Given the description of an element on the screen output the (x, y) to click on. 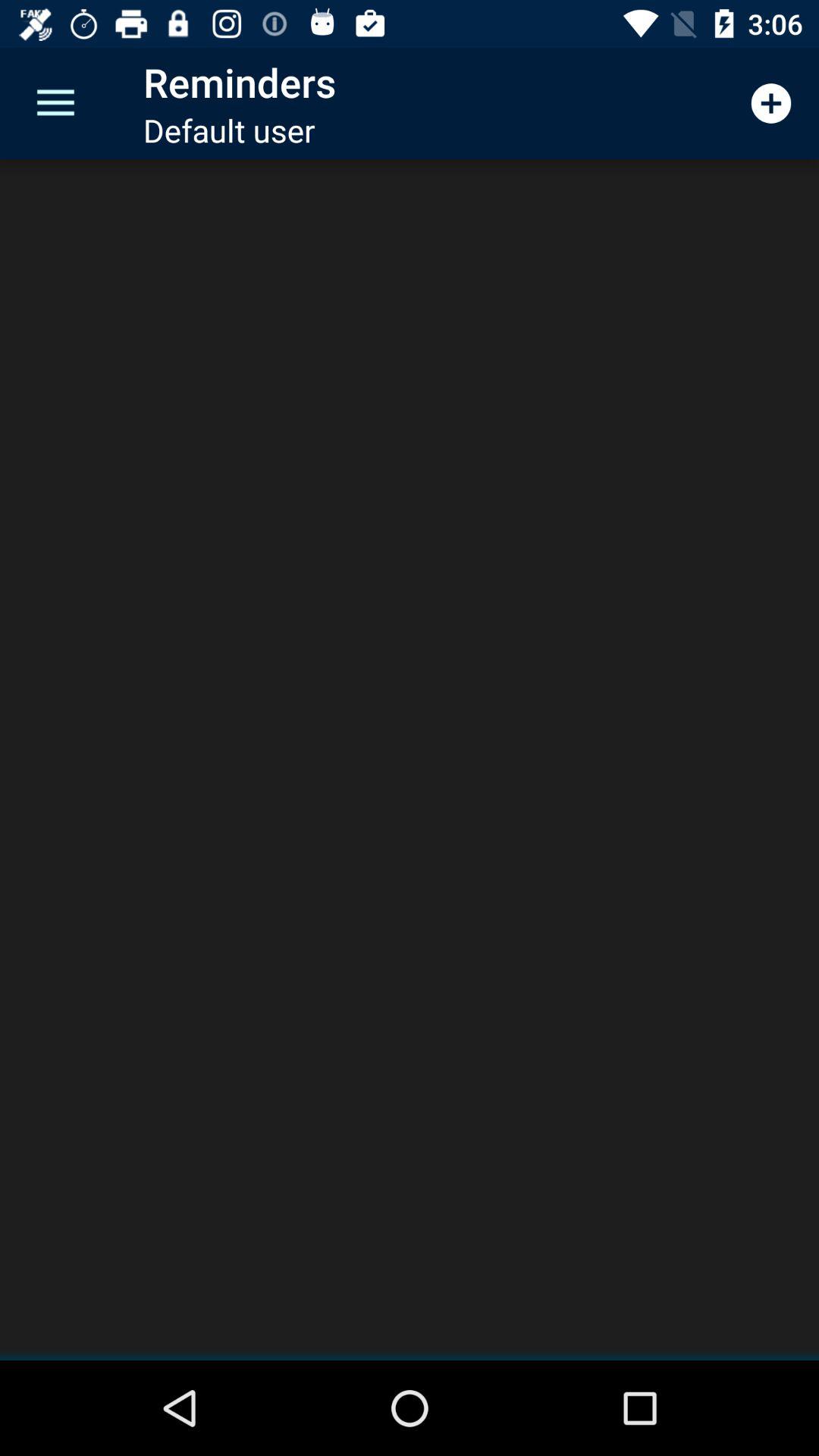
tap icon to the right of reminders (771, 103)
